Given the description of an element on the screen output the (x, y) to click on. 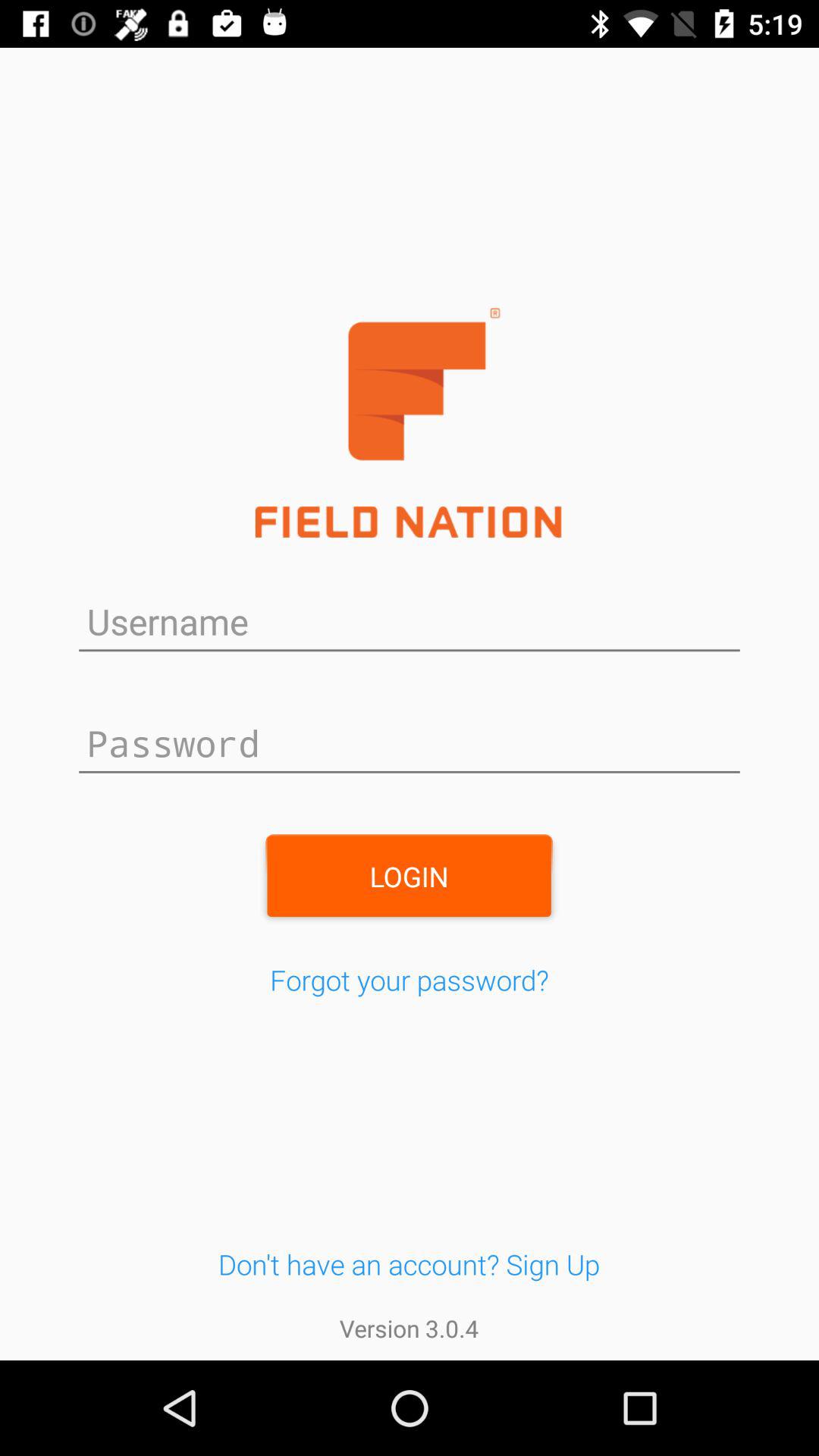
launch icon above the forgot your password? icon (408, 876)
